Given the description of an element on the screen output the (x, y) to click on. 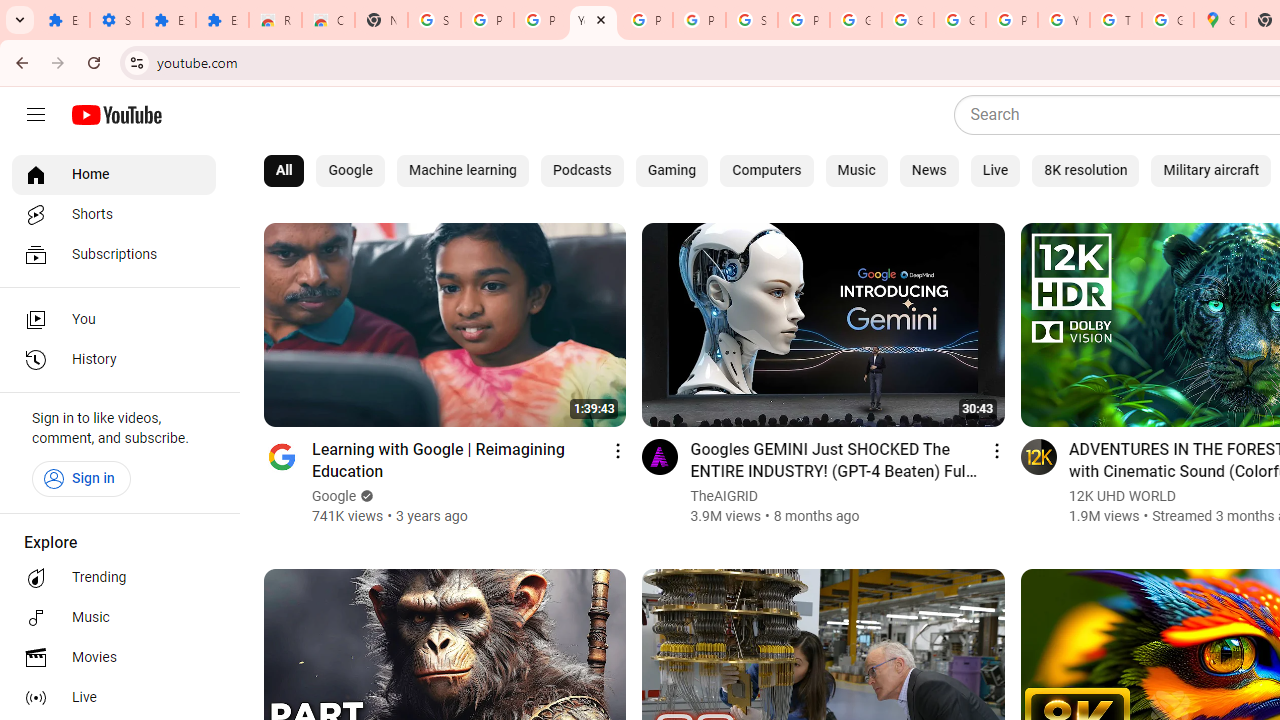
Podcasts (582, 170)
YouTube Home (116, 115)
Music (113, 617)
Go to channel (1038, 456)
All (283, 170)
Google (335, 496)
YouTube (1064, 20)
Google Maps (1219, 20)
